Given the description of an element on the screen output the (x, y) to click on. 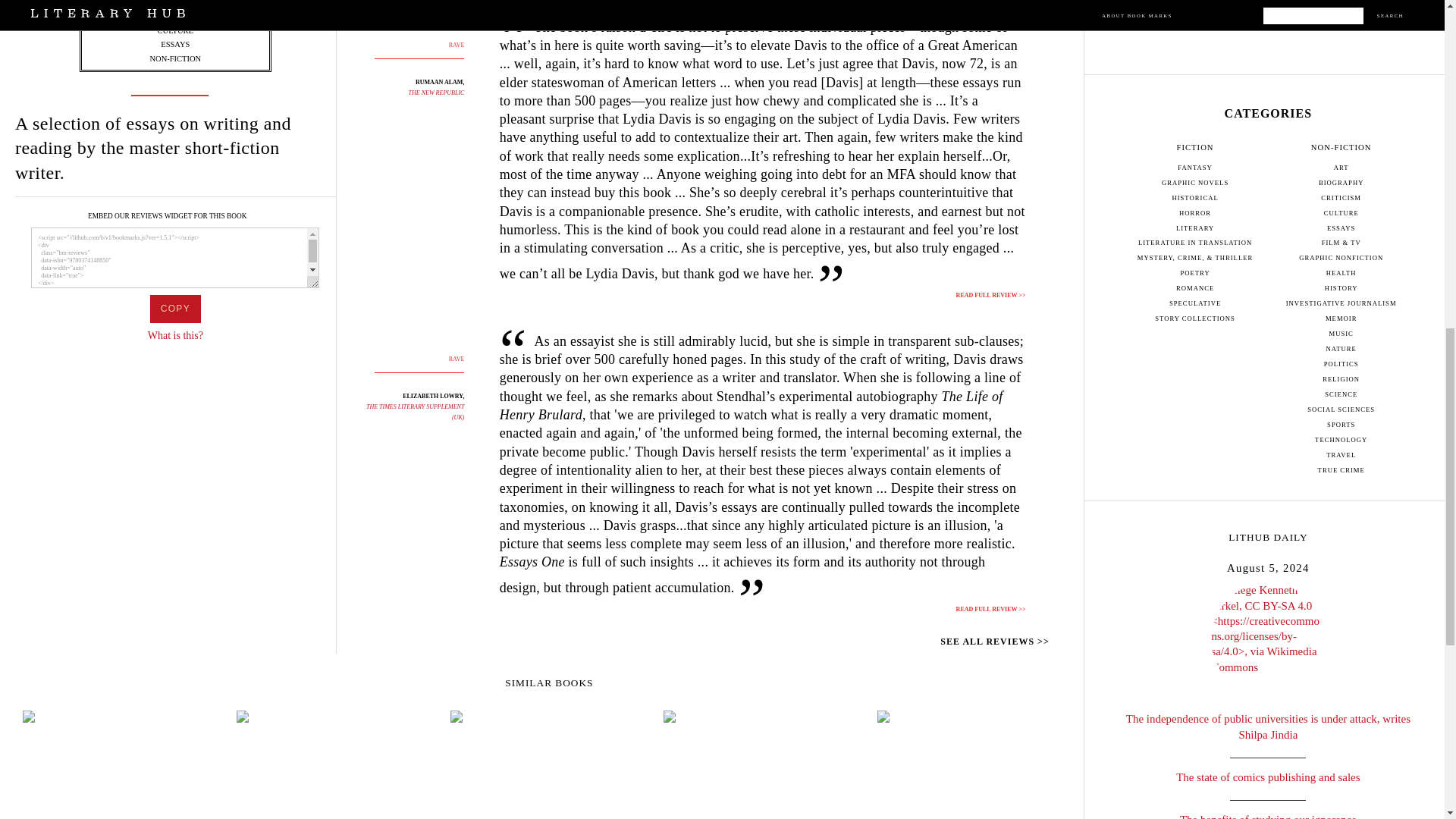
Copy (174, 308)
CRITICISM (175, 16)
ESSAYS (174, 44)
What is this? (175, 335)
Sign up (1267, 4)
ELIZABETH LOWRY, (433, 396)
CULTURE (175, 30)
RUMAAN ALAM, (439, 81)
THE NEW REPUBLIC (436, 92)
NON-FICTION (174, 58)
